Given the description of an element on the screen output the (x, y) to click on. 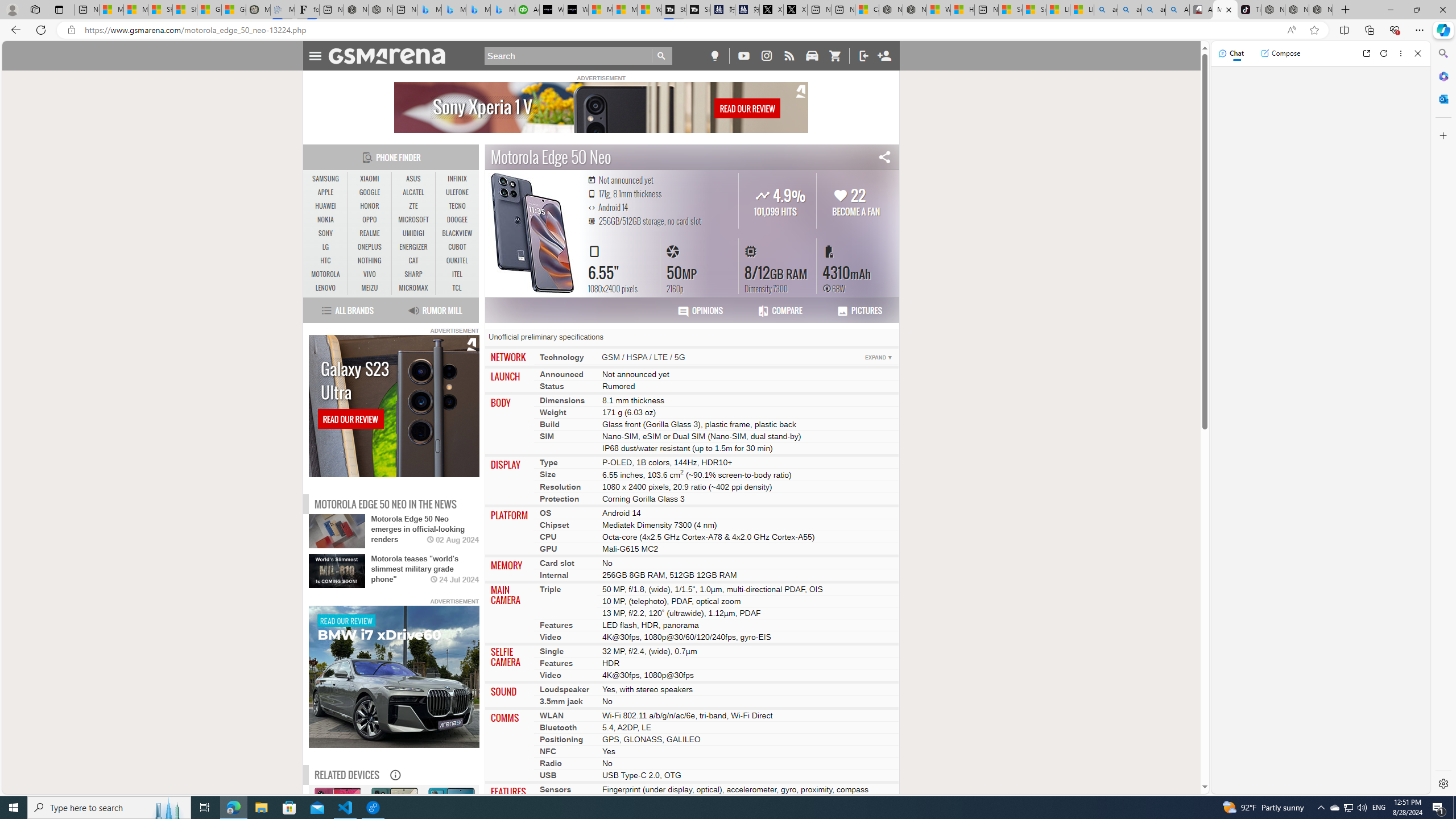
amazon - Search Images (1153, 9)
LENOVO (325, 287)
INFINIX (457, 178)
MOTOROLA EDGE 50 NEO IN THE NEWS (385, 504)
Motorola Edge 50 Neo - Full phone specifications (1224, 9)
SHARP (413, 273)
MOTOROLA (325, 273)
VIVO (369, 273)
